Given the description of an element on the screen output the (x, y) to click on. 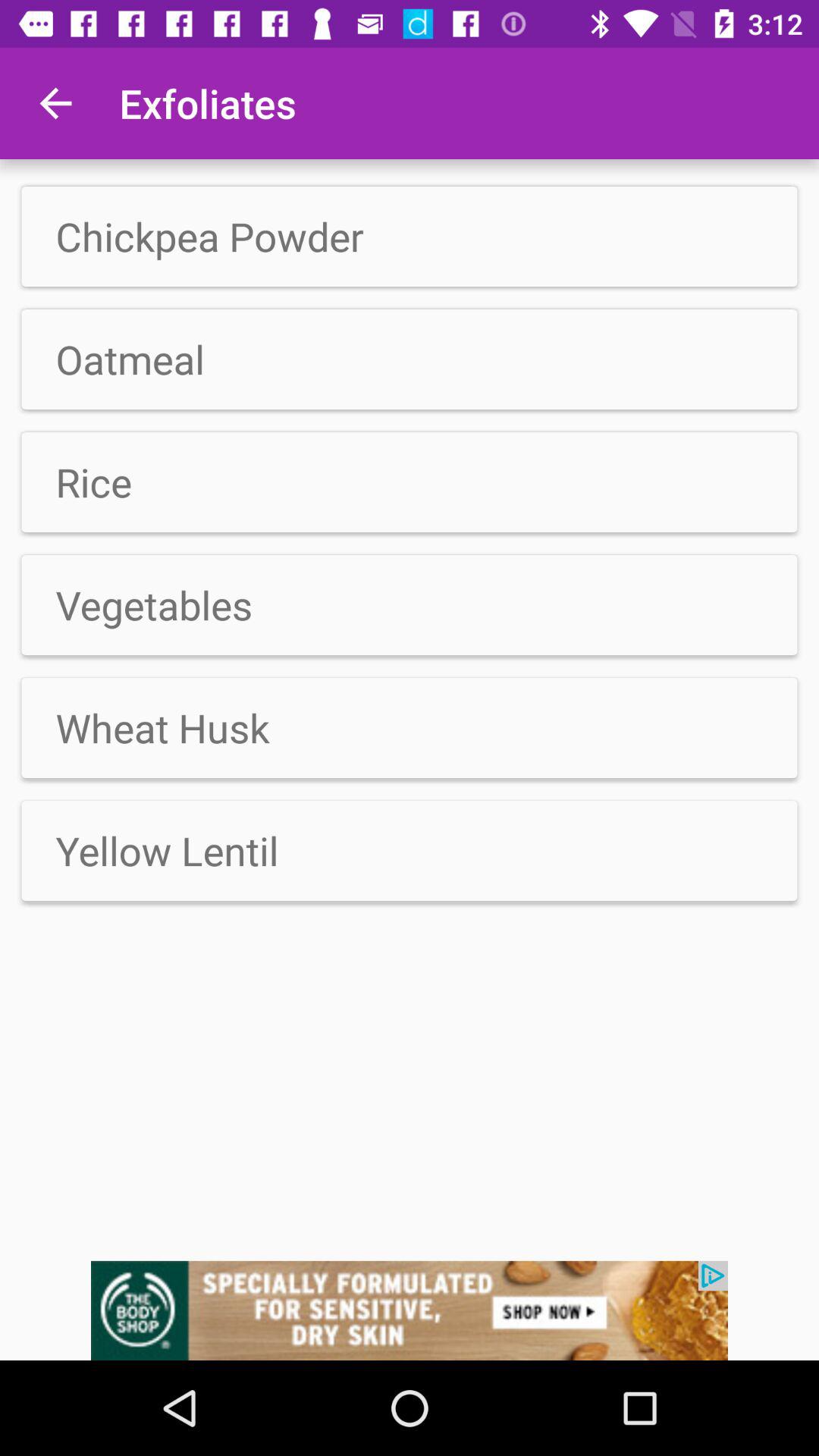
select the option below the wheat husk (409, 850)
click on the button which is below the rice (409, 604)
click on wheat husk (409, 727)
click on the button below rice (409, 482)
